Given the description of an element on the screen output the (x, y) to click on. 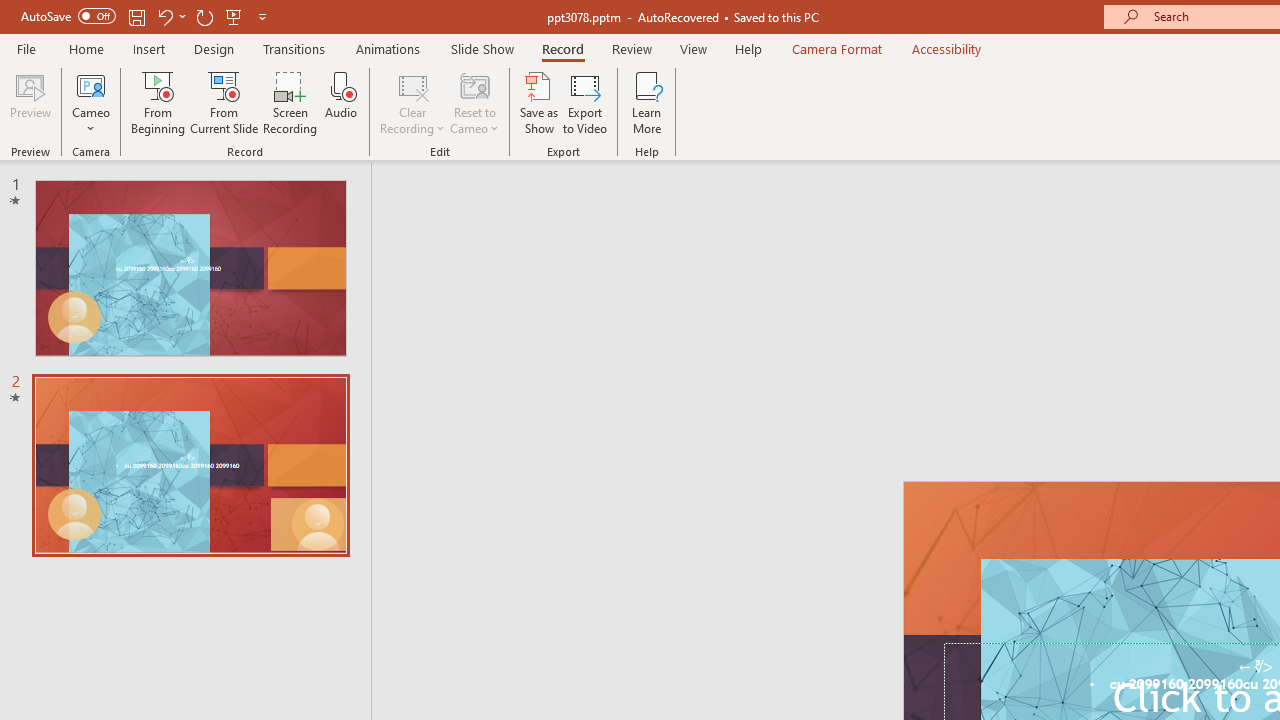
Customize Quick Access Toolbar (262, 15)
Reset to Cameo (474, 102)
Audio (341, 102)
From Beginning (234, 15)
More Options (91, 121)
Redo (204, 15)
From Current Slide... (224, 102)
Review (631, 48)
Preview (30, 102)
Animations (388, 48)
Export to Video (585, 102)
Design (214, 48)
